Given the description of an element on the screen output the (x, y) to click on. 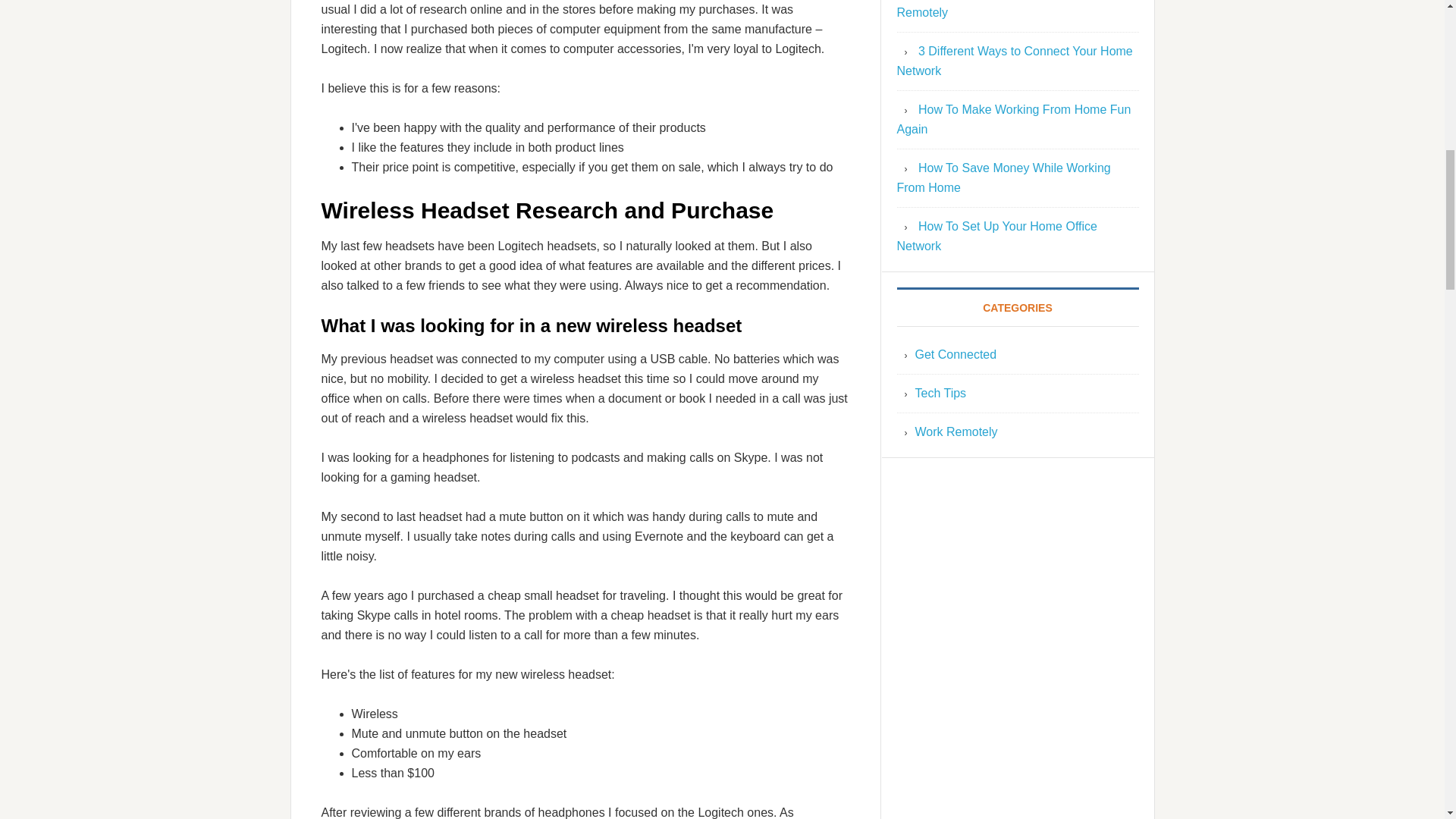
Tech Tips (940, 392)
How To Set Up Your Home Office Network (996, 236)
How To Make Working From Home Fun Again (1013, 119)
Work Remotely (955, 431)
3 Different Ways to Connect Your Home Network (1014, 60)
How To Save Money While Working From Home (1002, 177)
Staying Inspired While Working Remotely (991, 9)
